Given the description of an element on the screen output the (x, y) to click on. 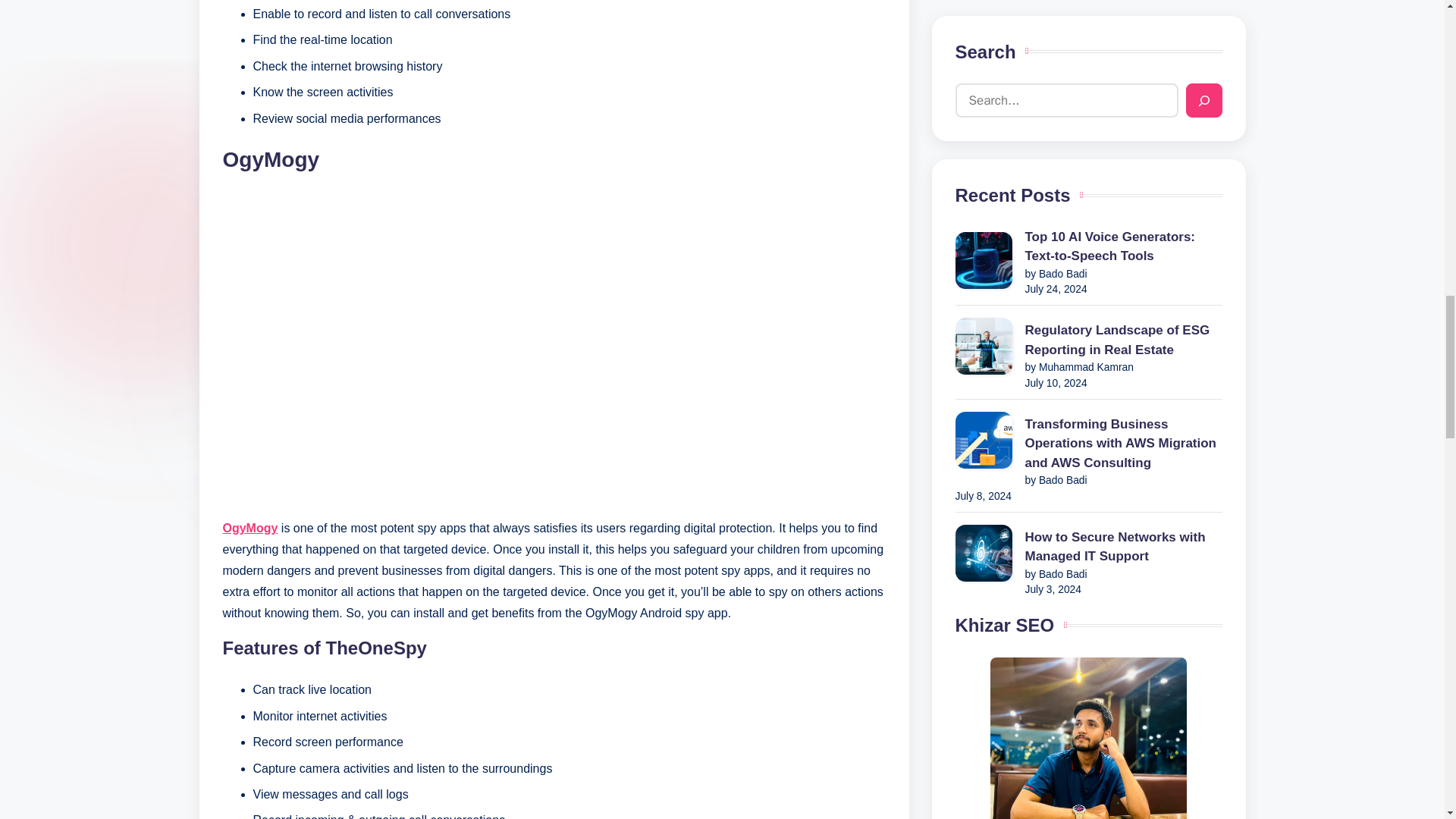
OgyMogy (250, 527)
